Given the description of an element on the screen output the (x, y) to click on. 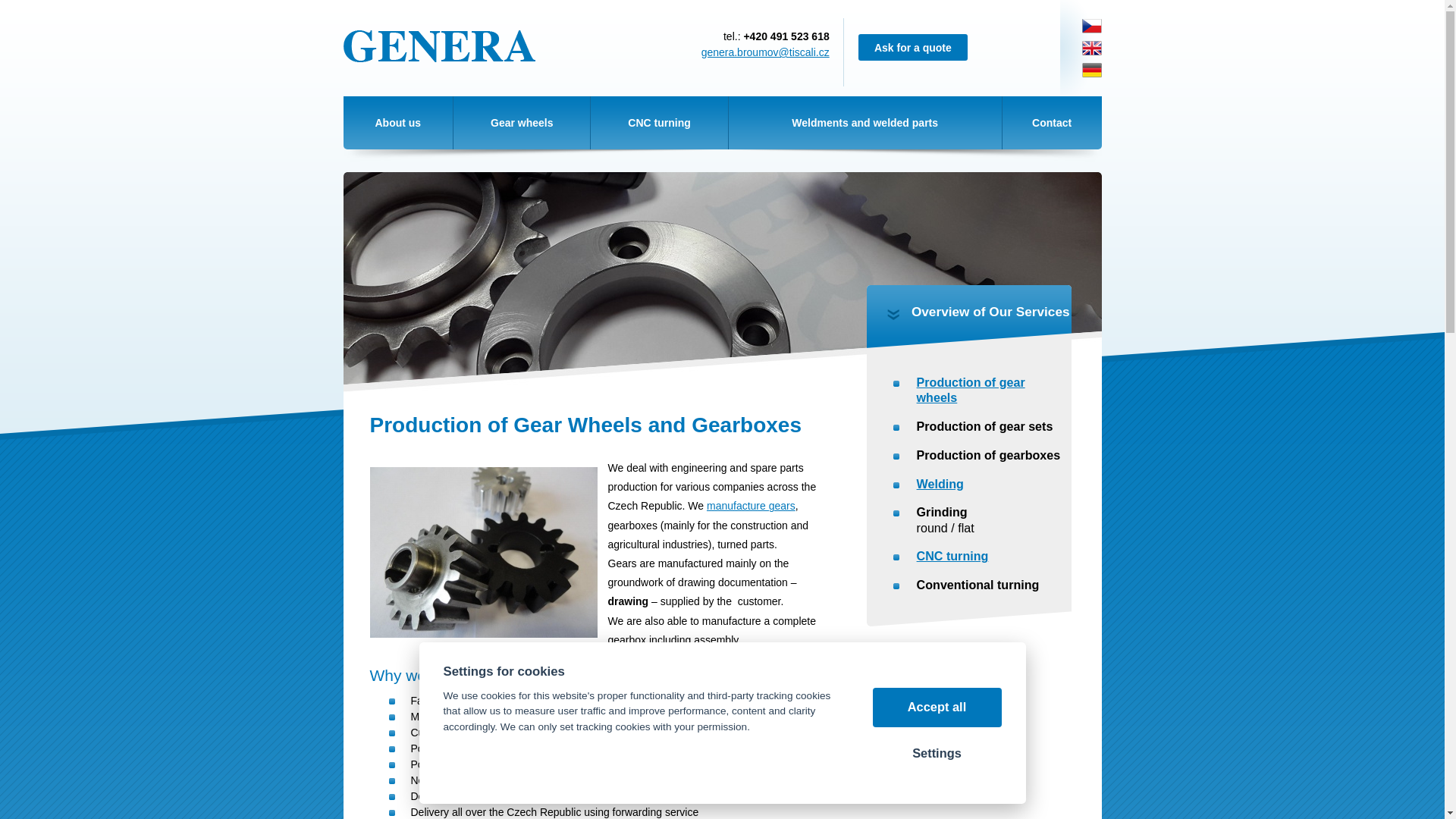
Production of gear wheels (971, 389)
Gear wheels (520, 122)
Weldments and welded parts (865, 122)
Ask for a quote (913, 47)
About us (397, 122)
manufacture gears (750, 505)
Contact (1052, 122)
Welding (940, 483)
CNC turning (658, 122)
CNC turning (952, 555)
